Given the description of an element on the screen output the (x, y) to click on. 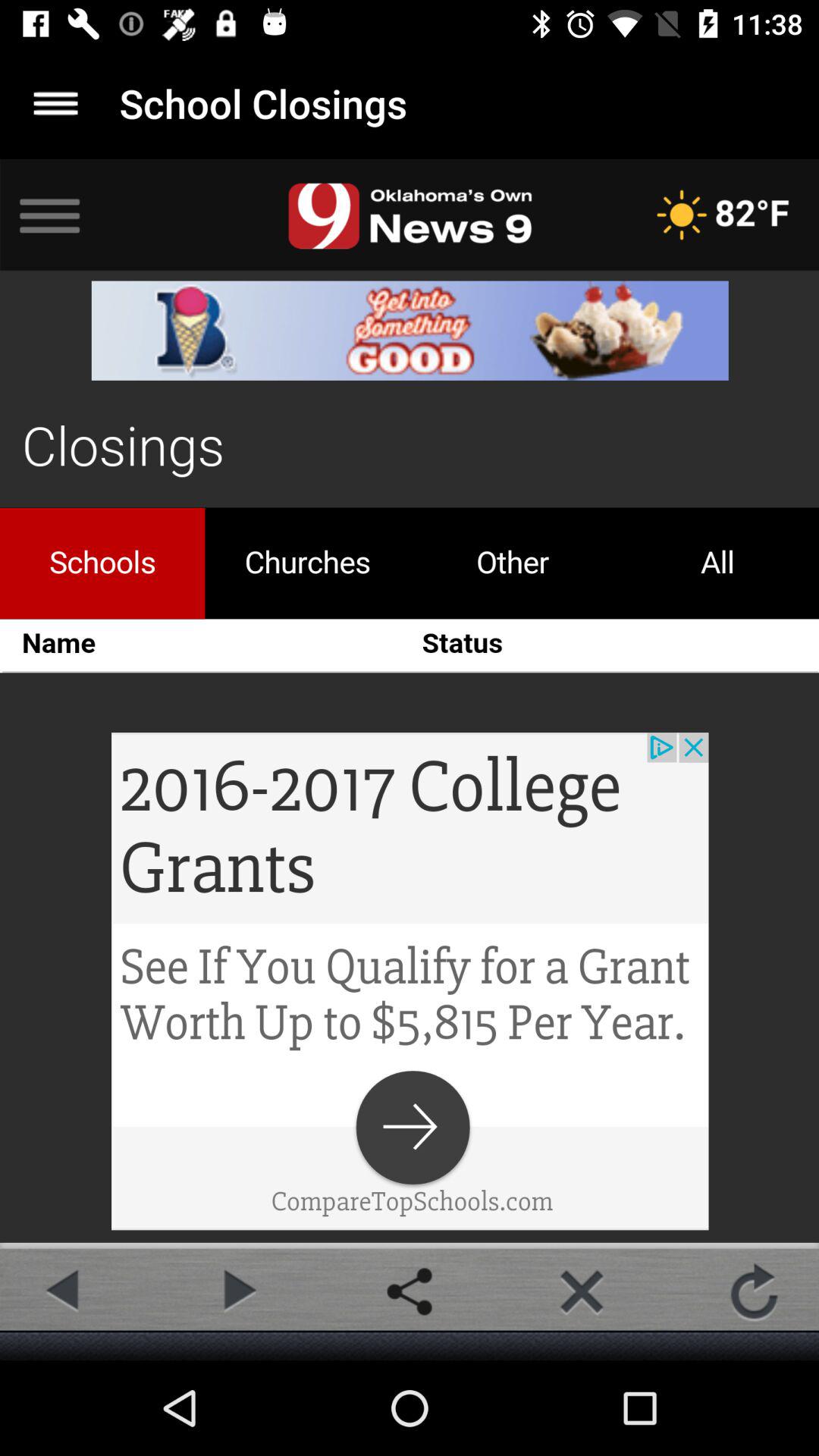
go to gallery (409, 1291)
